Given the description of an element on the screen output the (x, y) to click on. 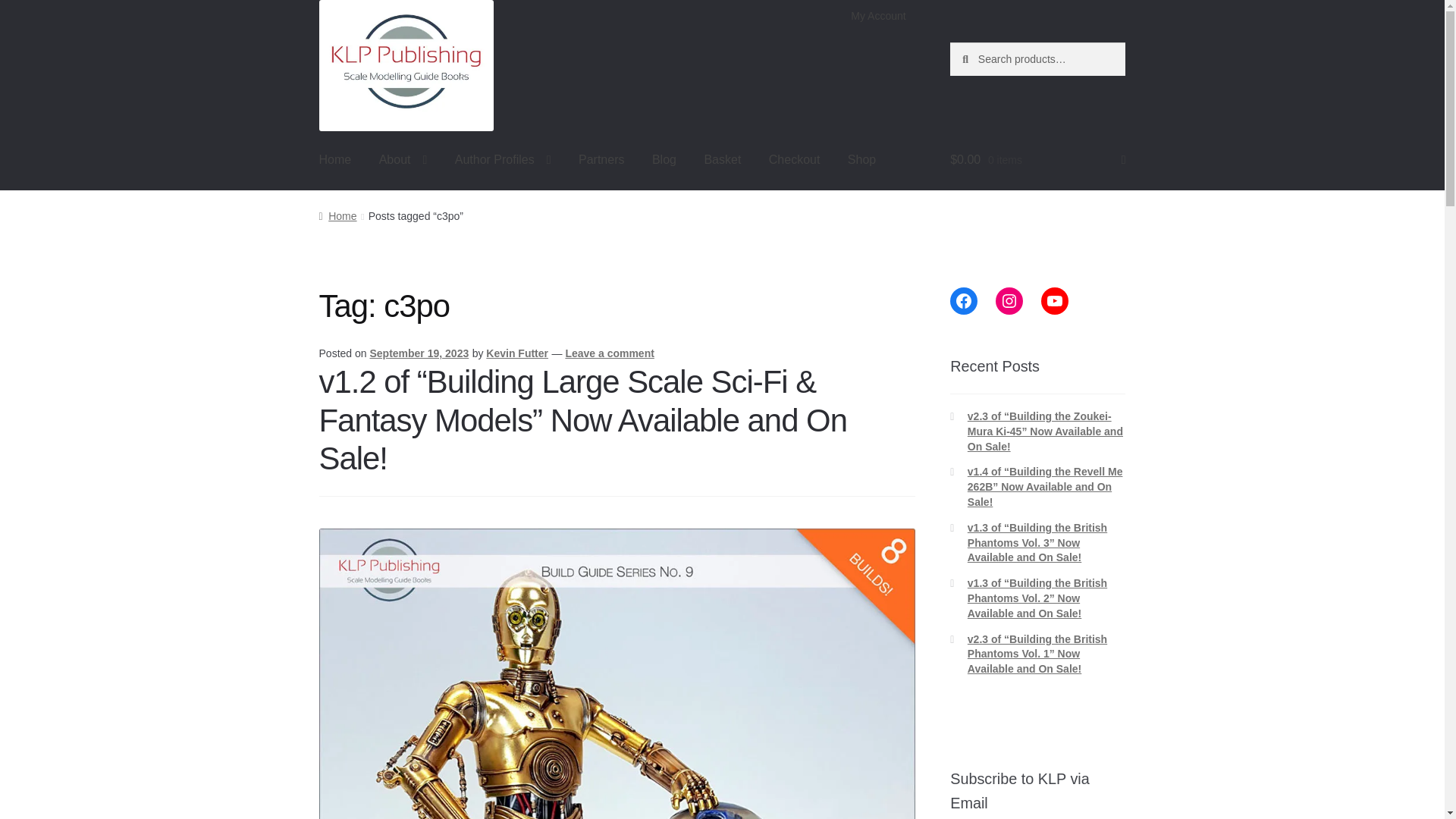
Author Profiles (502, 159)
My Account (878, 15)
Partners (601, 159)
Basket (721, 159)
Checkout (794, 159)
View your shopping cart (1037, 159)
About (402, 159)
Home (335, 159)
